Given the description of an element on the screen output the (x, y) to click on. 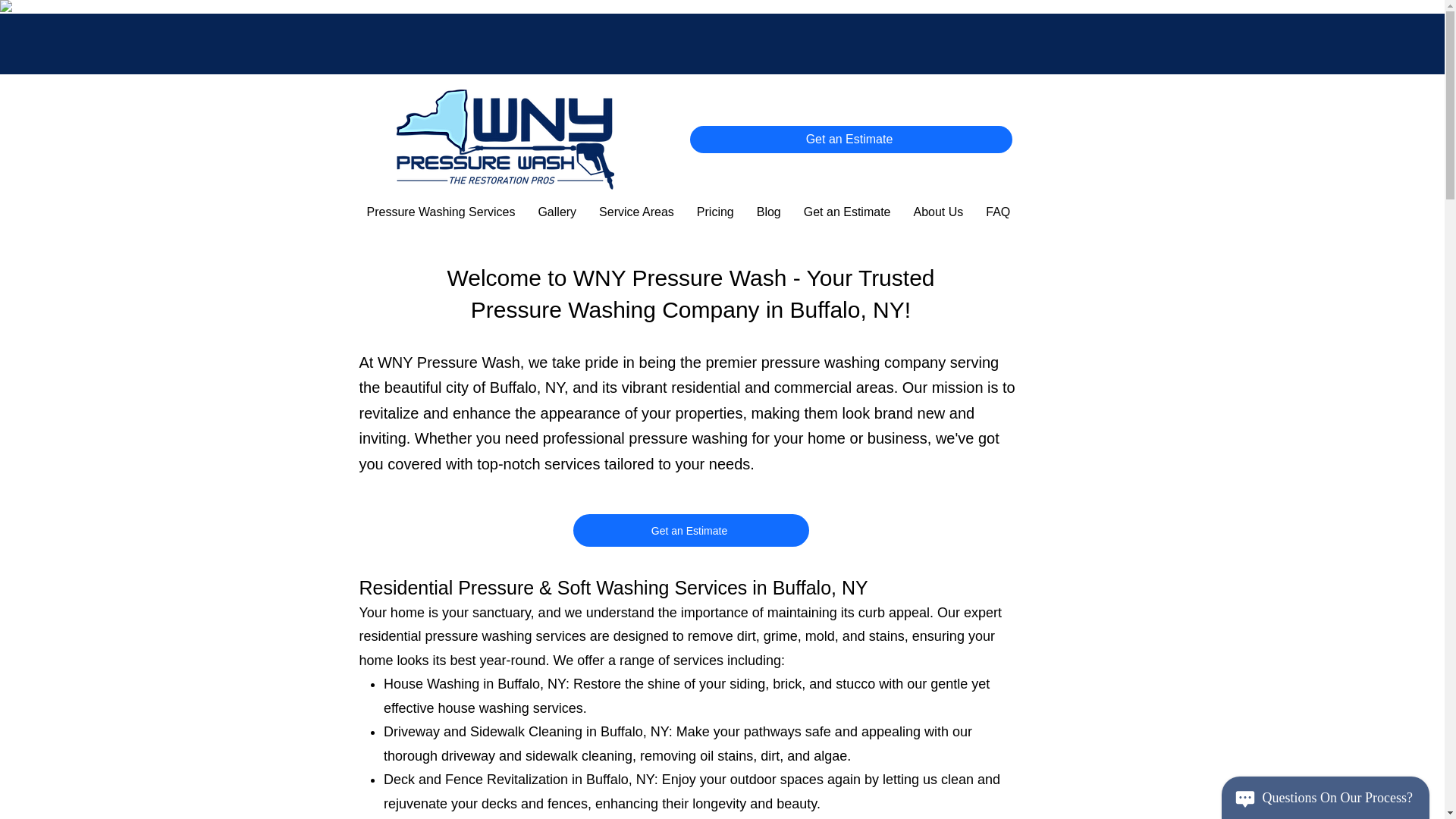
About Us (937, 212)
Blog (768, 212)
Pressure Washing Services (440, 212)
Service Areas (636, 212)
Pricing (715, 212)
Get an Estimate (850, 139)
Gallery (556, 212)
Get an Estimate (847, 212)
